Given the description of an element on the screen output the (x, y) to click on. 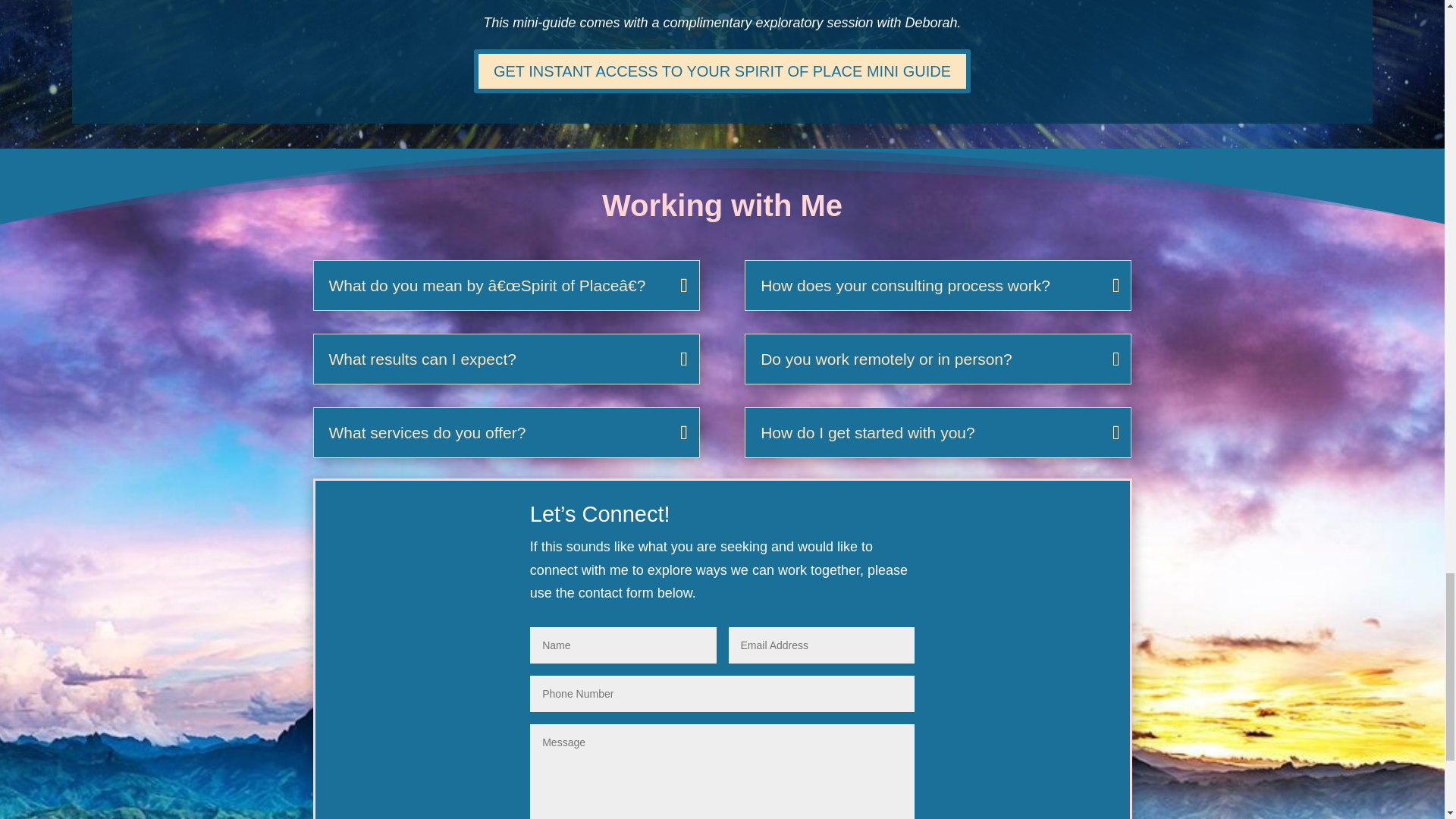
GET INSTANT ACCESS TO YOUR SPIRIT OF PLACE MINI GUIDE (722, 71)
